Given the description of an element on the screen output the (x, y) to click on. 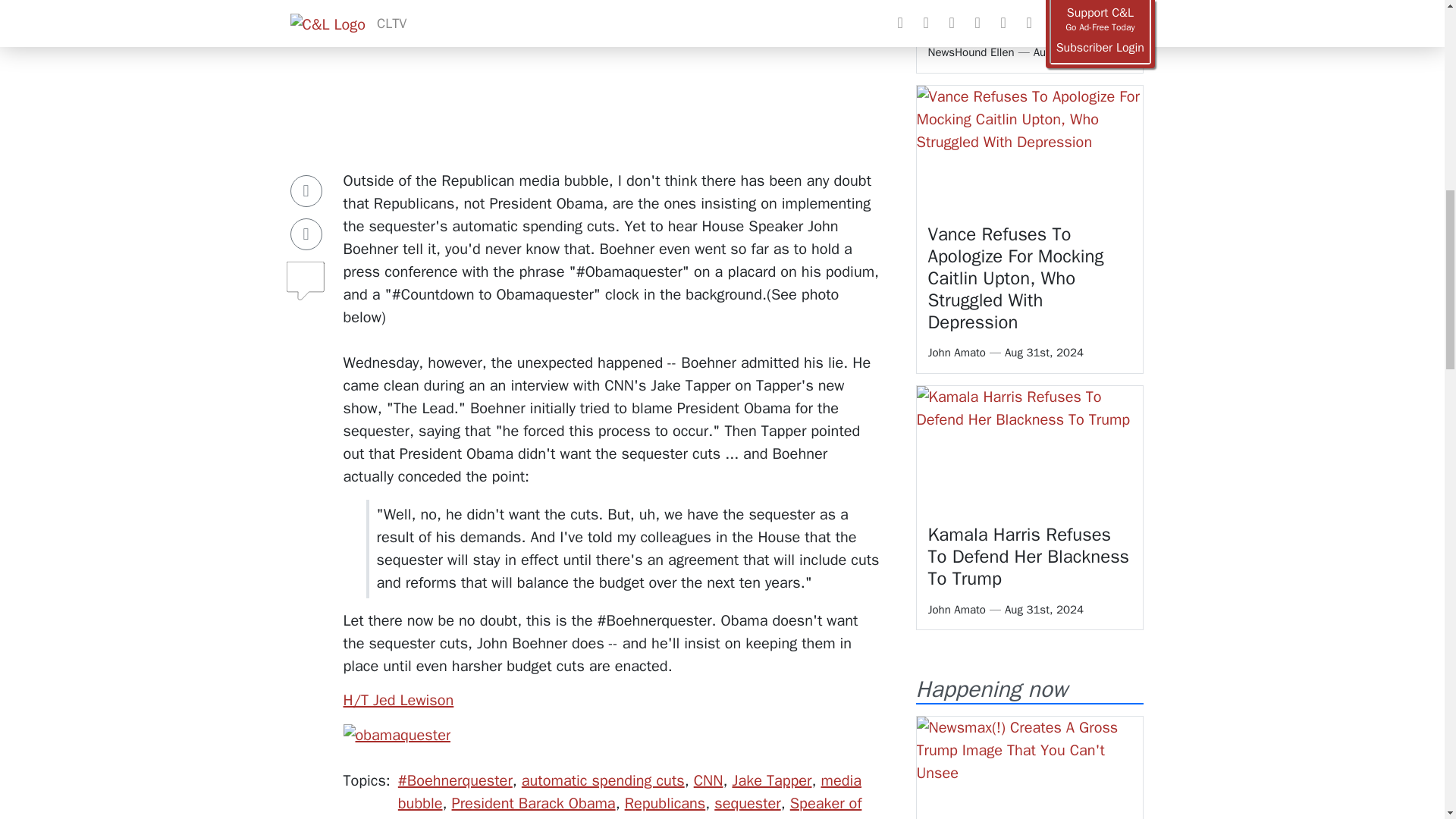
Jake Tapper (771, 780)
media bubble (629, 792)
CNN (708, 780)
Republicans (665, 803)
President Barack Obama (533, 803)
obamaquester by RoguePlanet, on Flickr (395, 733)
automatic spending cuts (602, 780)
